Given the description of an element on the screen output the (x, y) to click on. 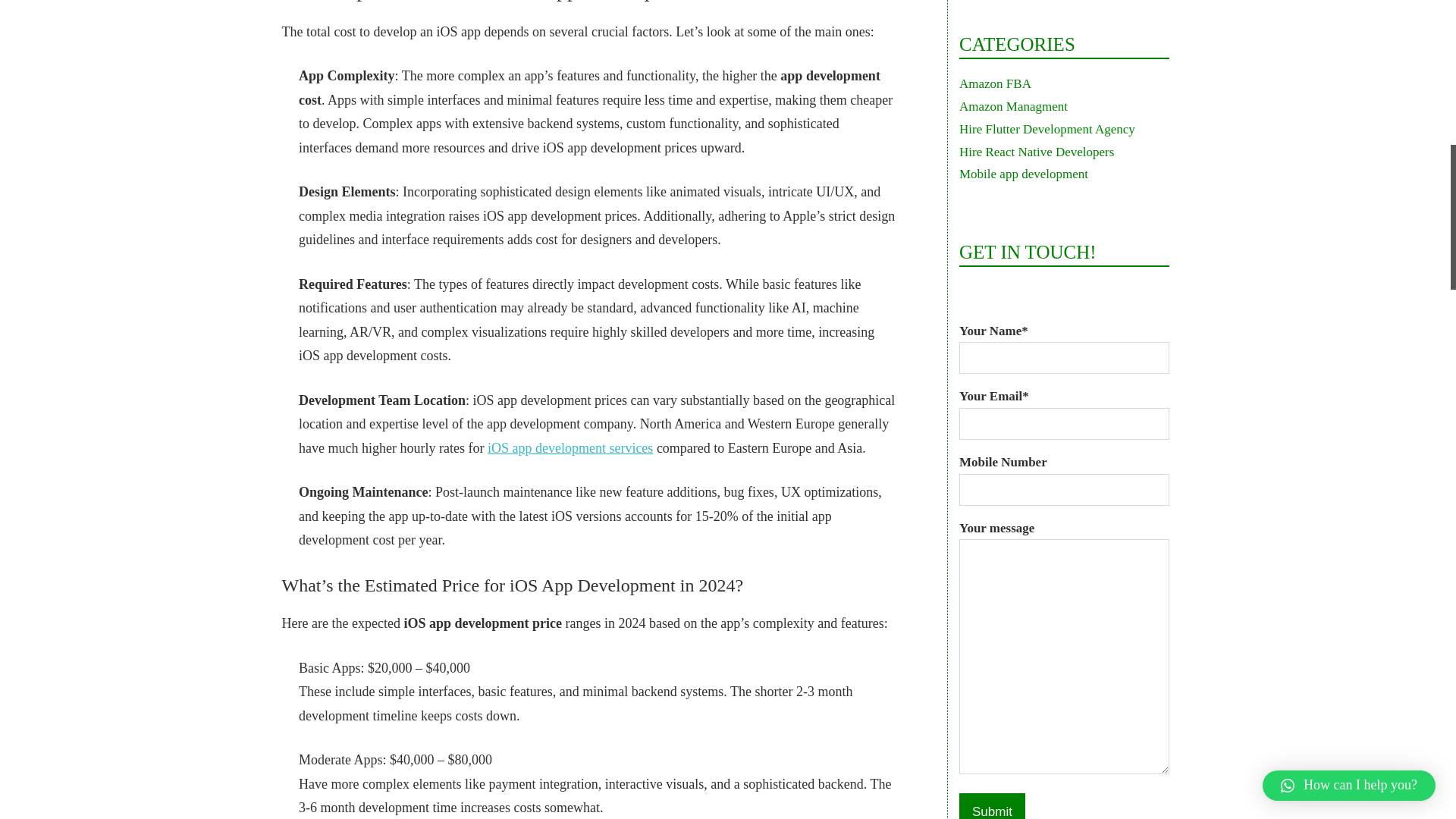
Submit (992, 806)
